Given the description of an element on the screen output the (x, y) to click on. 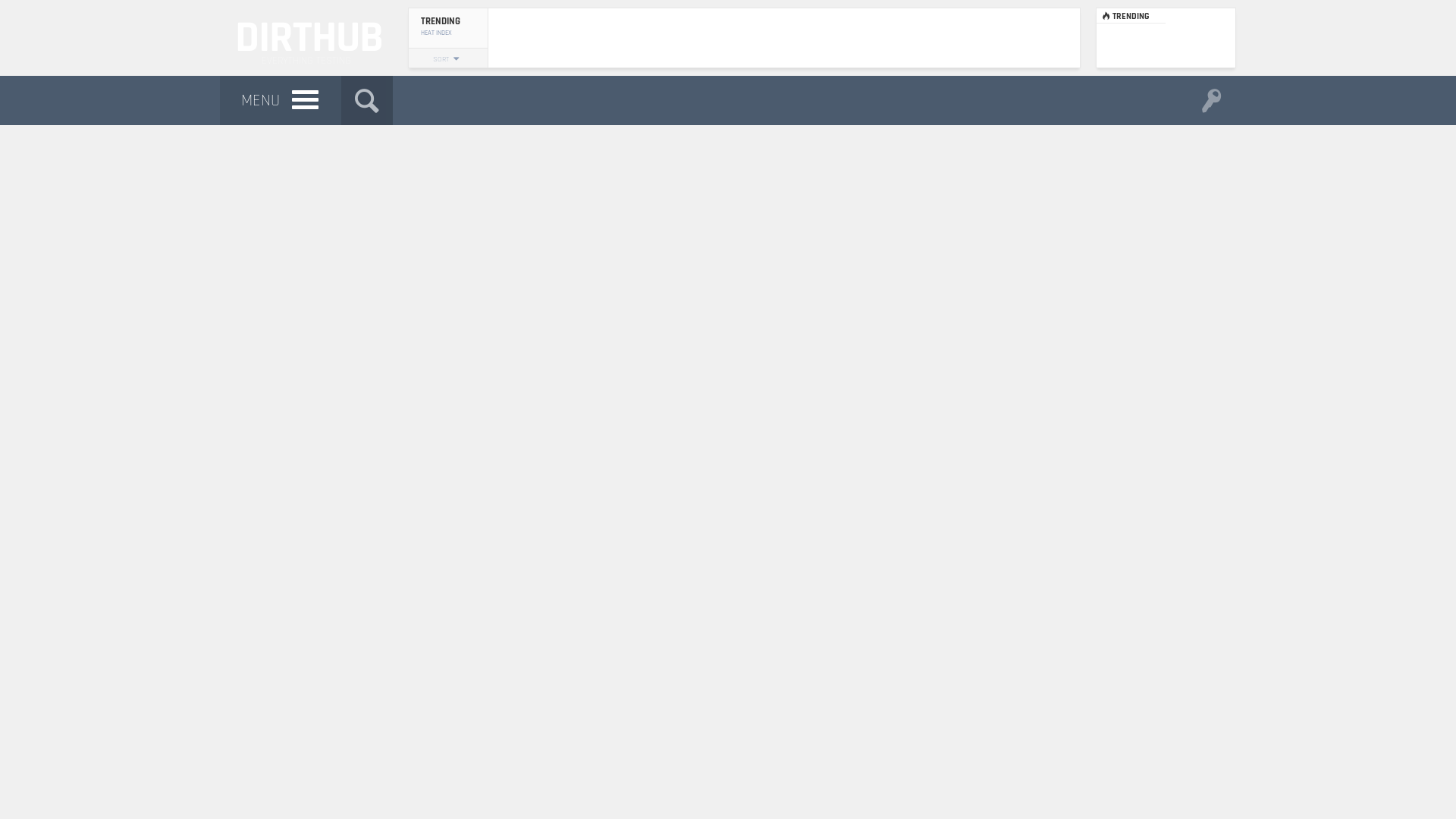
DIRTHUB Element type: text (305, 37)
